Given the description of an element on the screen output the (x, y) to click on. 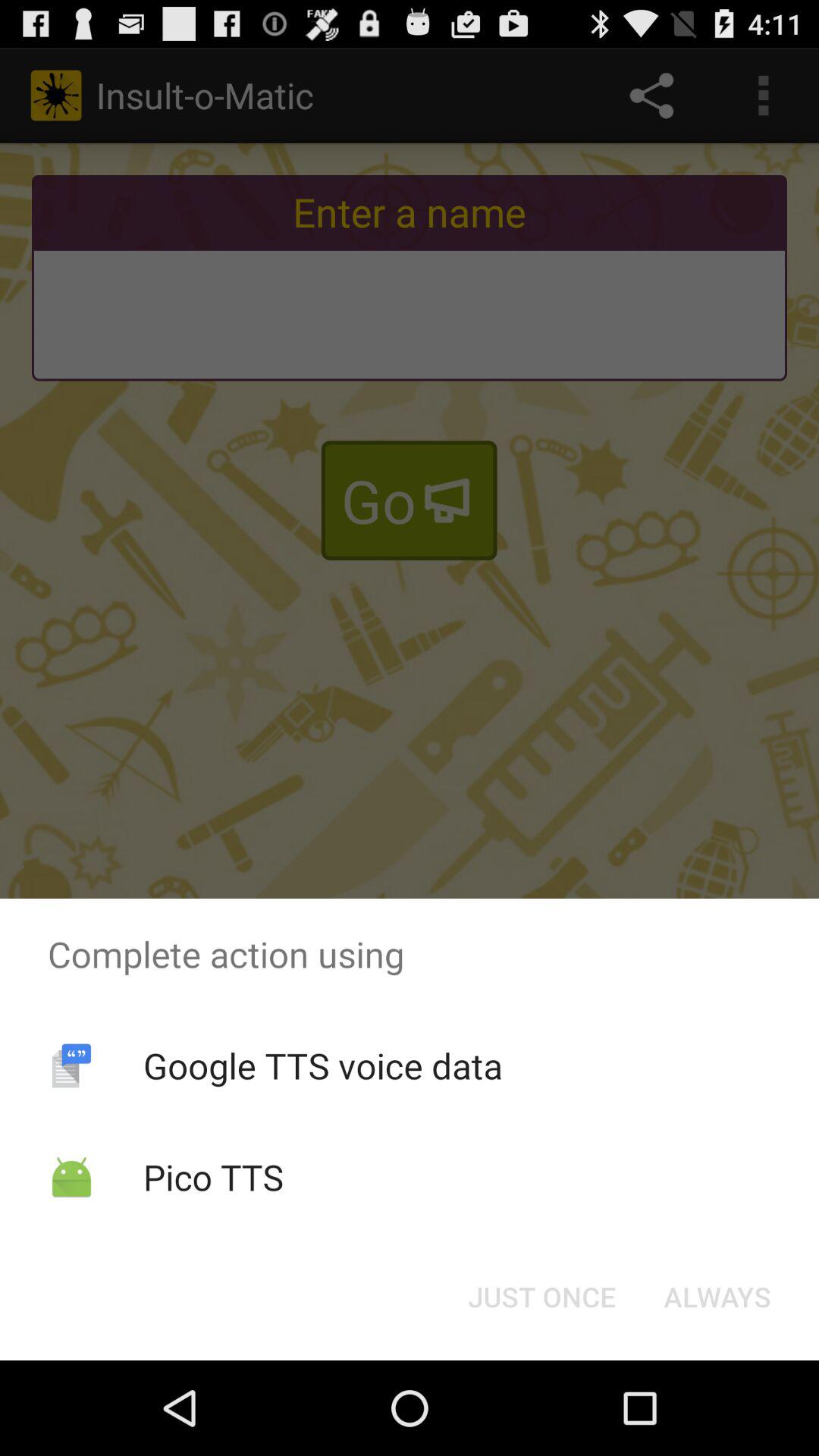
turn on the pico tts icon (213, 1176)
